Given the description of an element on the screen output the (x, y) to click on. 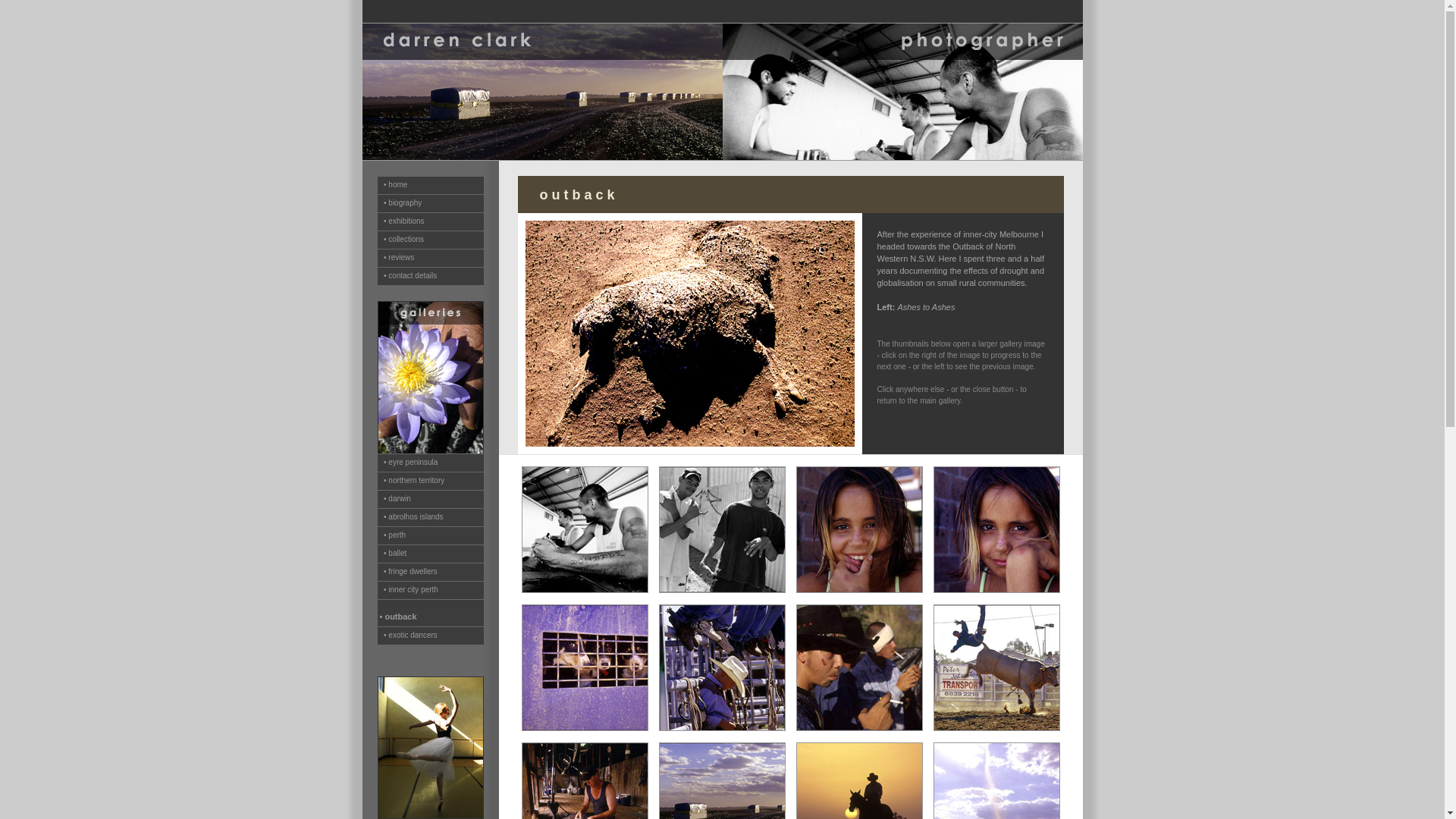
Outback Element type: hover (584, 590)
Outback Element type: hover (995, 590)
Outback Element type: hover (859, 728)
Outback Element type: hover (721, 590)
Outback Element type: hover (995, 728)
Outback: Ashes to Ashes Element type: hover (689, 451)
Outback Element type: hover (859, 590)
Outback Element type: hover (584, 728)
Outback Element type: hover (721, 728)
